Given the description of an element on the screen output the (x, y) to click on. 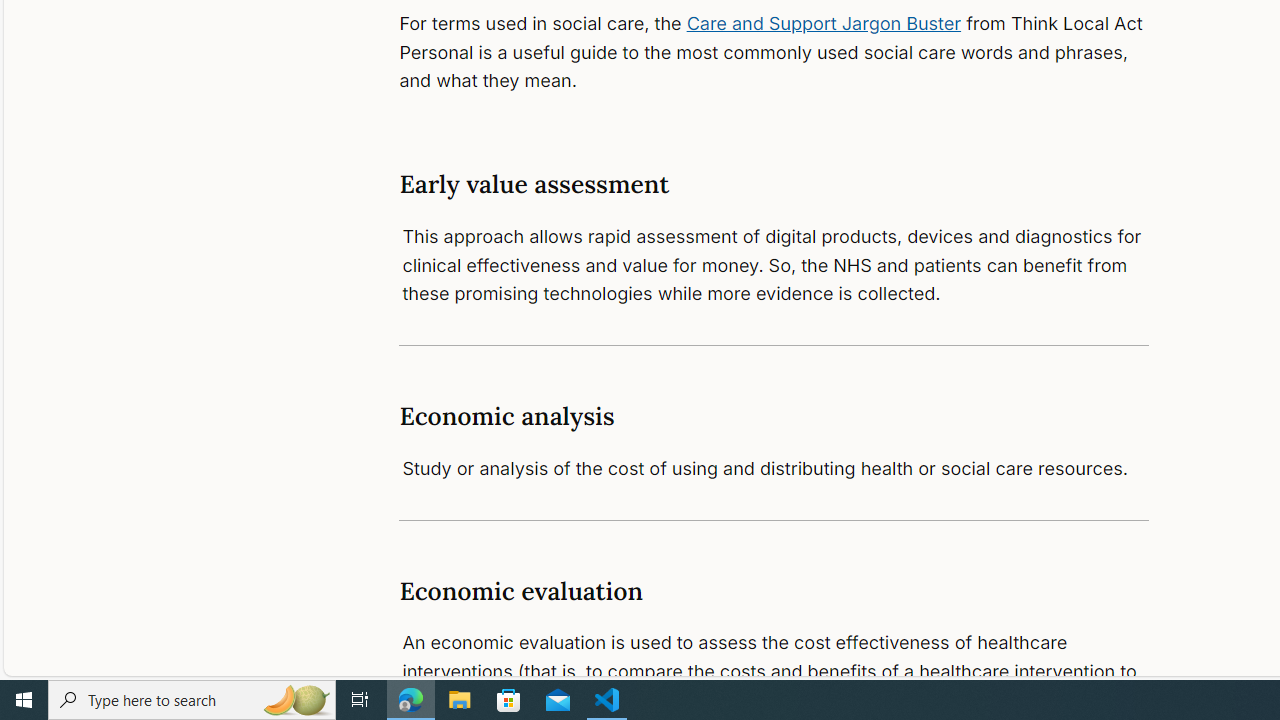
Care and Support Jargon Buster (824, 22)
